Given the description of an element on the screen output the (x, y) to click on. 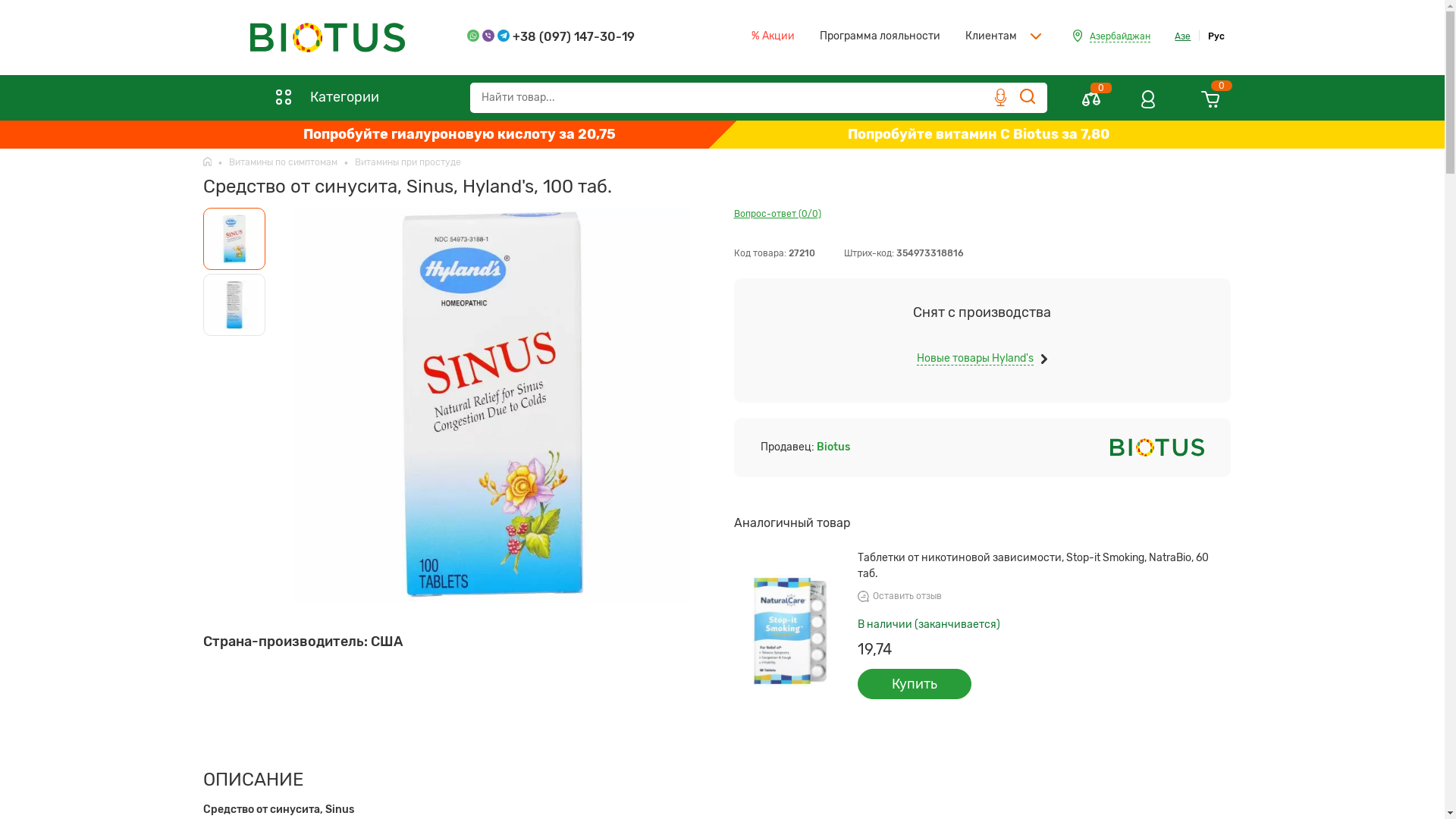
0 Element type: text (1091, 104)
+38 (097) 147-30-19 Element type: text (550, 36)
